Given the description of an element on the screen output the (x, y) to click on. 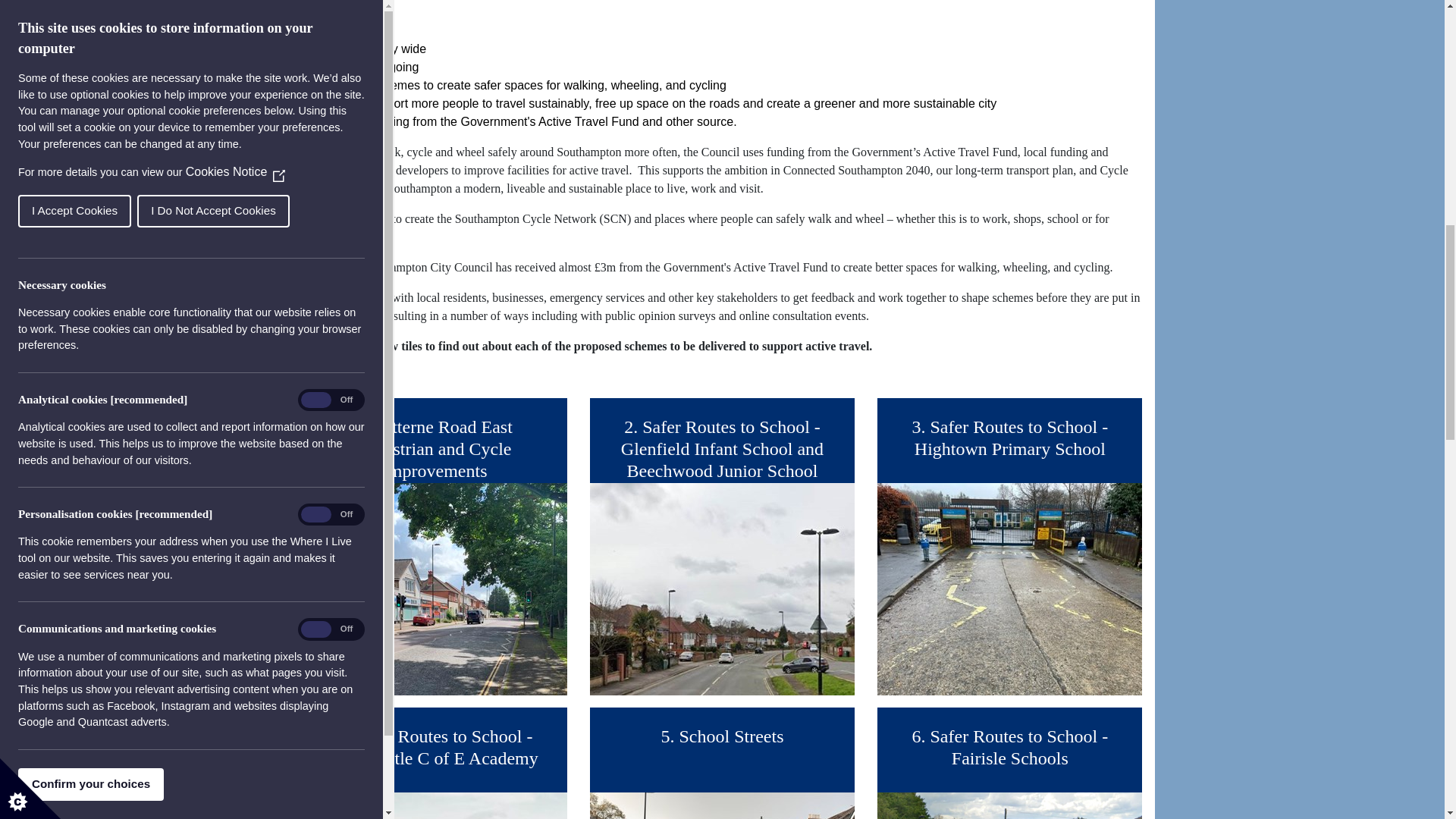
1. Bitterne Road East Pedestrian and Cycle Improvements (433, 546)
4. Safer Routes to School - Freemantle C of E Academy (433, 763)
6. Safer Routes to School - Fairisle Schools (1009, 763)
3. Safer Routes to School - Hightown Primary School (1009, 546)
5. School Streets (721, 763)
